Given the description of an element on the screen output the (x, y) to click on. 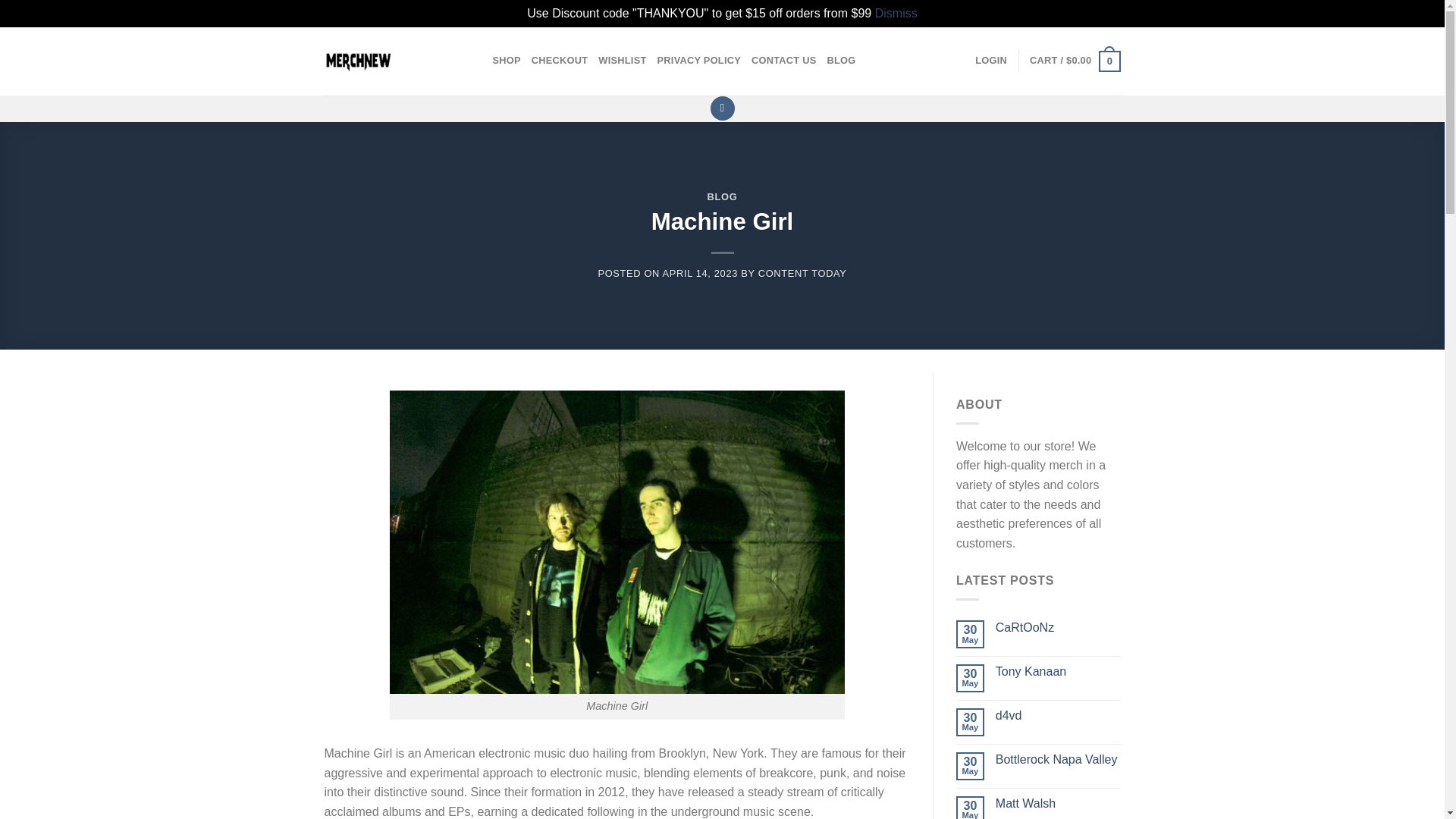
WISHLIST (622, 60)
CONTACT US (783, 60)
CHECKOUT (559, 60)
Bottlerock Napa Valley (1058, 759)
LOGIN (991, 60)
APRIL 14, 2023 (700, 273)
Tony Kanaan (1058, 671)
Dismiss (896, 12)
BLOG (841, 60)
PRIVACY POLICY (699, 60)
